Given the description of an element on the screen output the (x, y) to click on. 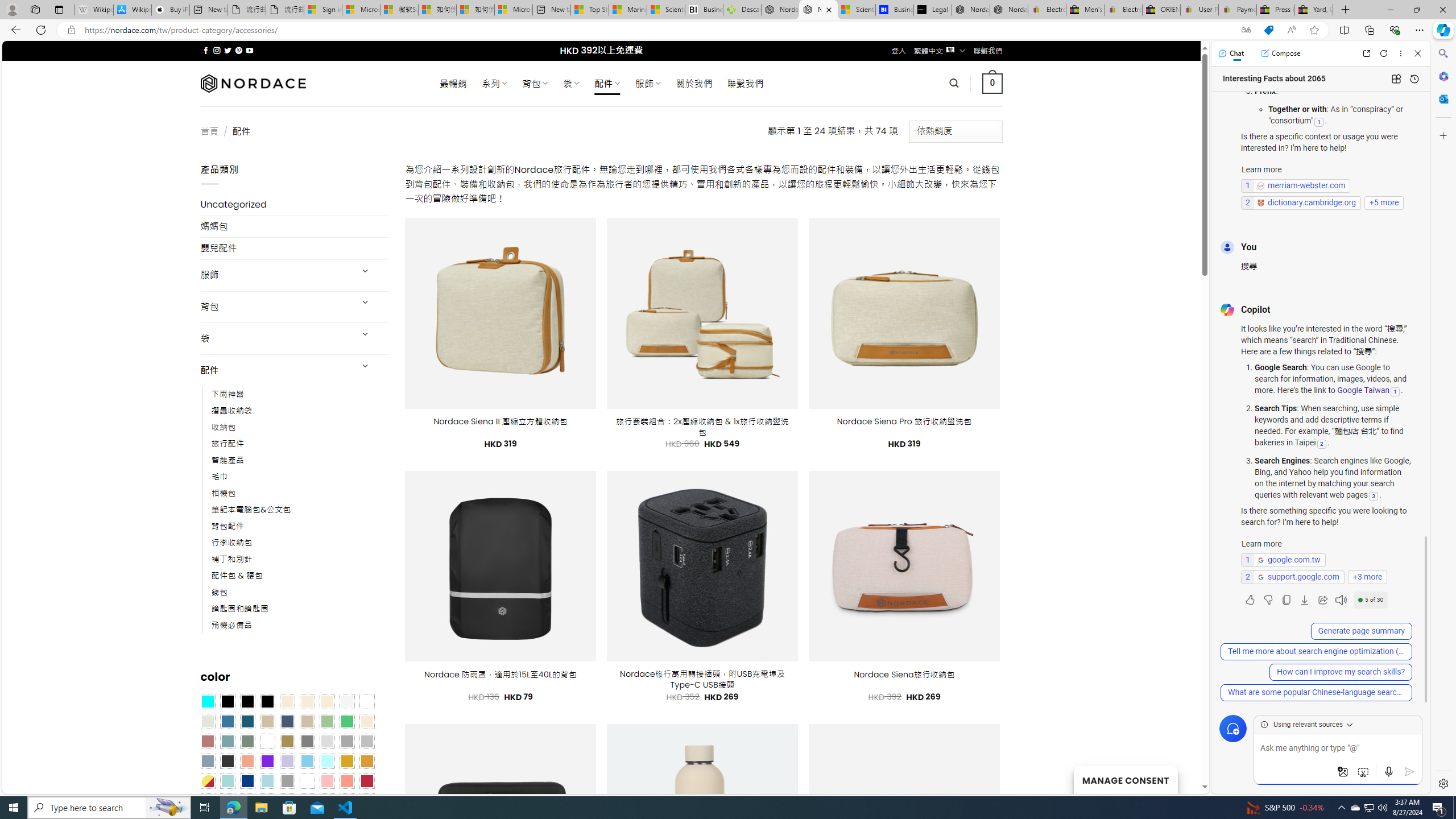
Yard, Garden & Outdoor Living (1314, 9)
User Privacy Notice | eBay (1198, 9)
Minimize Search pane (1442, 53)
